Given the description of an element on the screen output the (x, y) to click on. 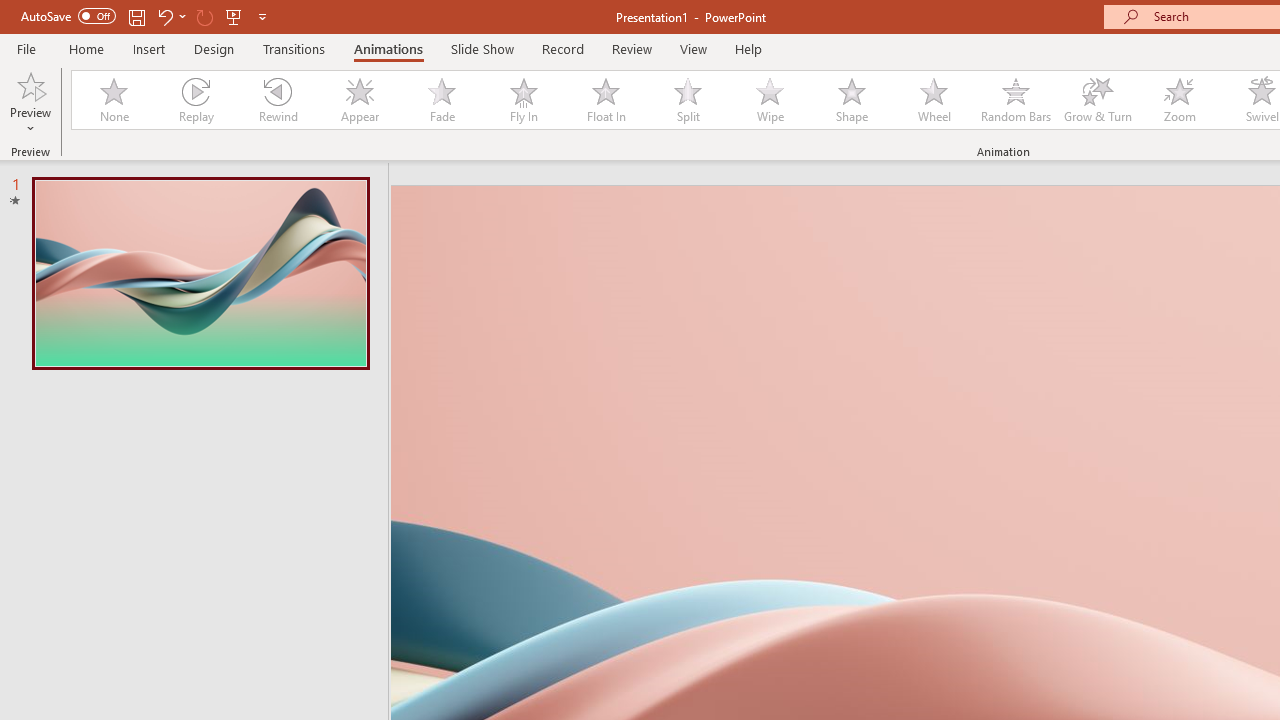
Fade (441, 100)
Fly In (523, 100)
Appear (359, 100)
Rewind (277, 100)
Wheel (934, 100)
